Given the description of an element on the screen output the (x, y) to click on. 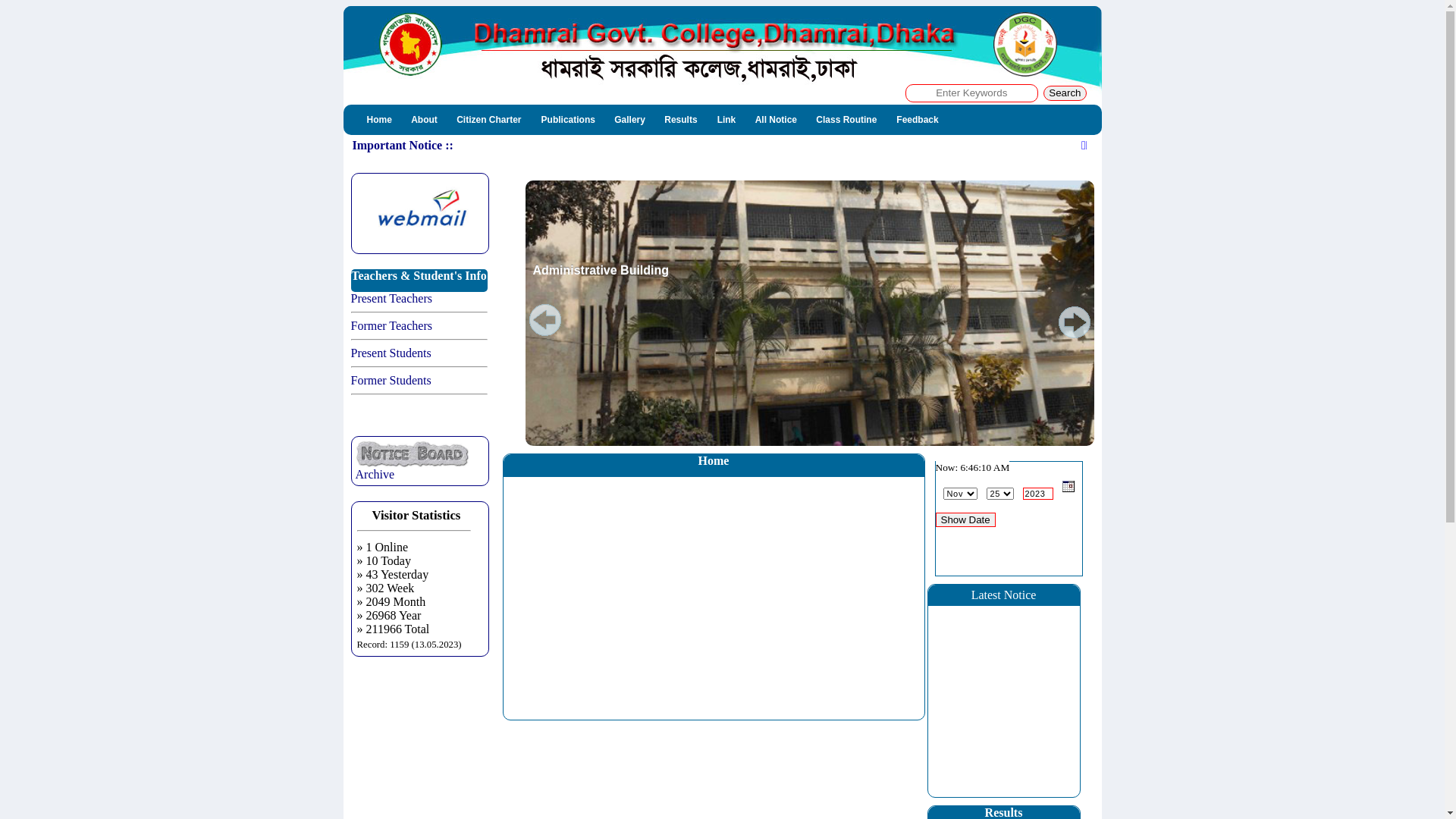
Link Element type: text (727, 119)
Year Element type: hover (1037, 492)
Gallery Element type: text (630, 119)
Results Element type: text (680, 119)
Publications Element type: text (569, 119)
Search Element type: text (1064, 92)
Latest Notice Element type: text (1003, 594)
About Element type: text (425, 119)
Calendar Element type: hover (1067, 486)
Show Date Element type: text (965, 519)
Former Students Element type: text (390, 379)
Feedback Element type: text (917, 119)
Archive Element type: text (411, 468)
All Notice Element type: text (777, 119)
Present Students Element type: text (390, 352)
Home Element type: text (379, 119)
Former Teachers Element type: text (390, 325)
Present Teachers Element type: text (390, 297)
Class Routine Element type: text (845, 119)
Citizen Charter Element type: text (488, 119)
